Given the description of an element on the screen output the (x, y) to click on. 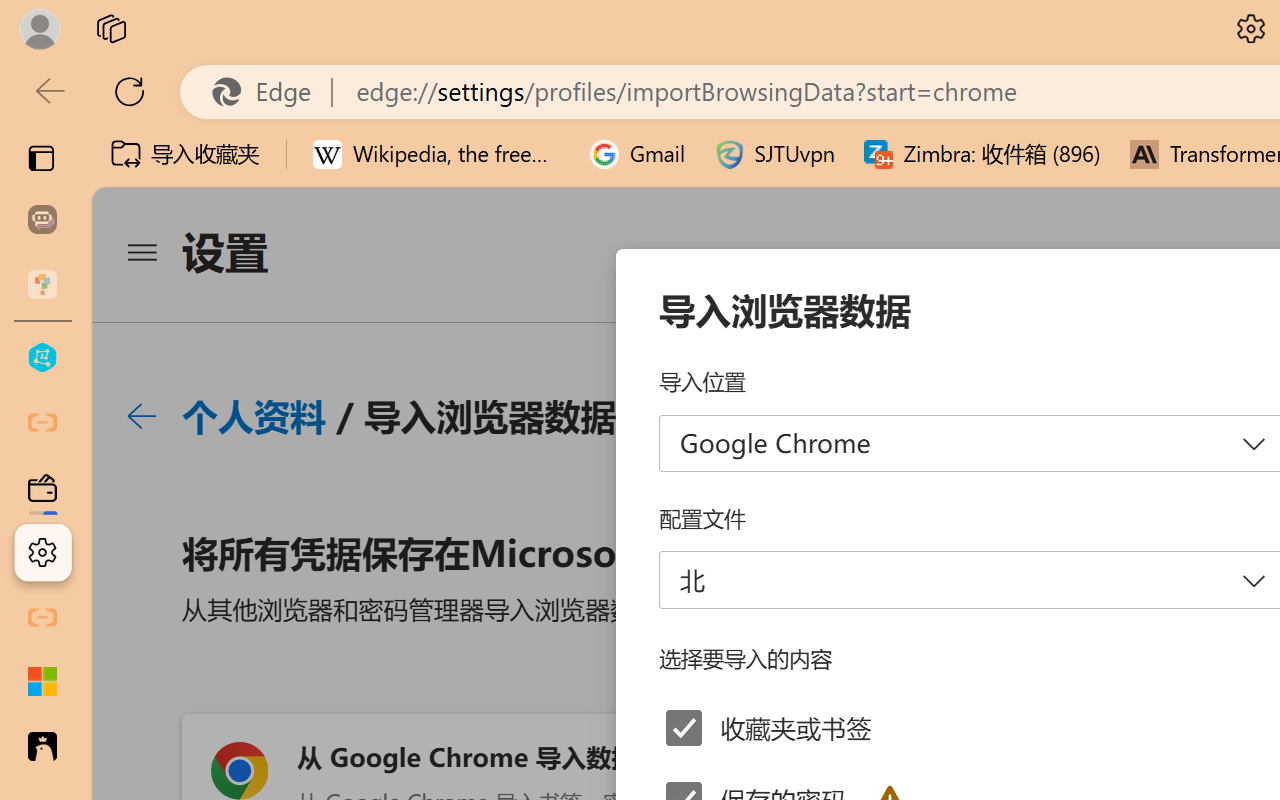
Gmail (637, 154)
Edge (269, 91)
